Given the description of an element on the screen output the (x, y) to click on. 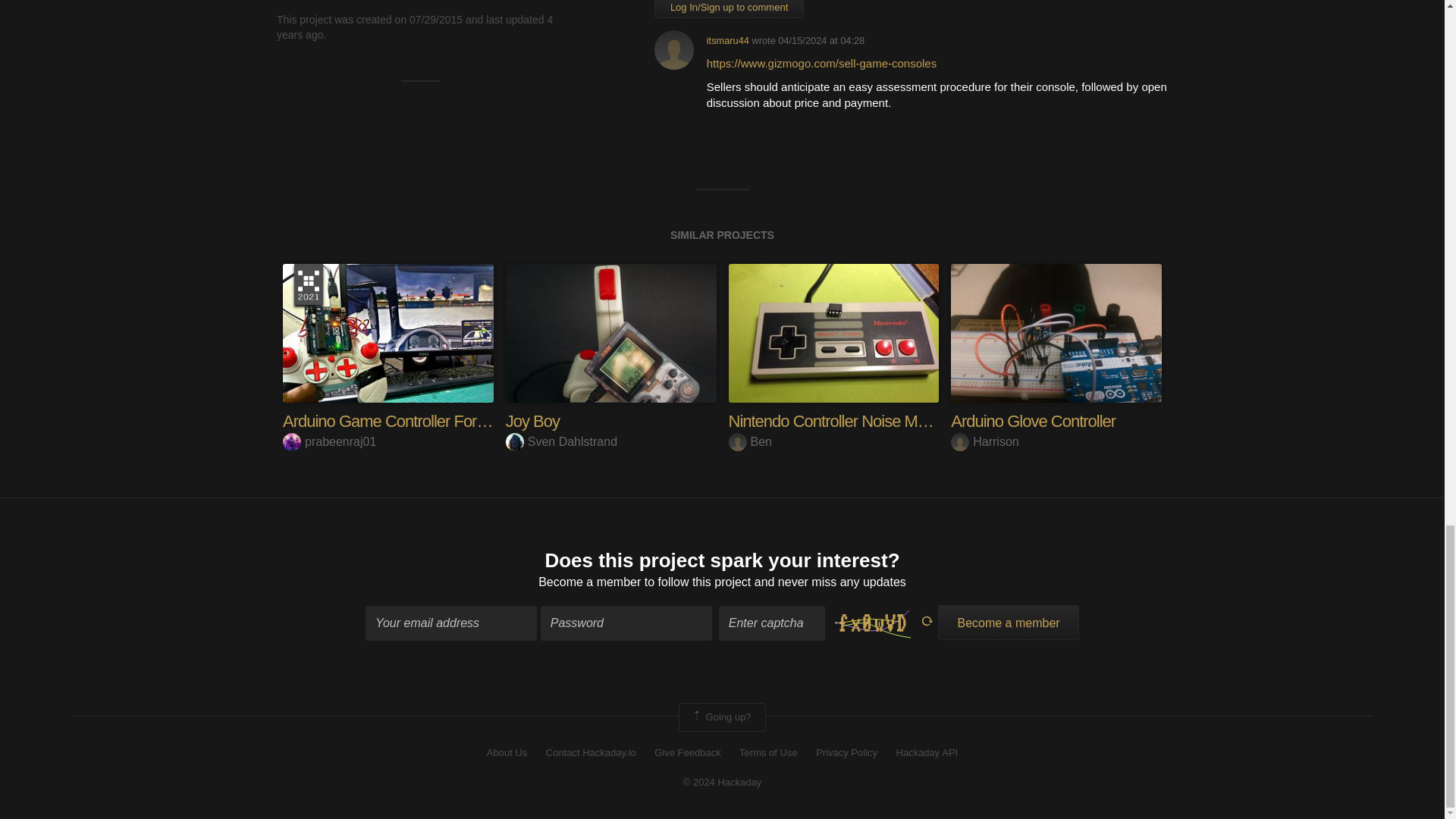
Arduino Game Controller For PC and Android (434, 420)
Joy Boy by Sven Dahlstrand (610, 332)
3 months ago (820, 40)
Joy Boy (532, 420)
Arduino Game Controller For PC and Android by prabeenraj01 (387, 332)
Nintendo Controller Noise Maker (837, 420)
Nintendo Controller Noise Maker by Ben (833, 332)
